Given the description of an element on the screen output the (x, y) to click on. 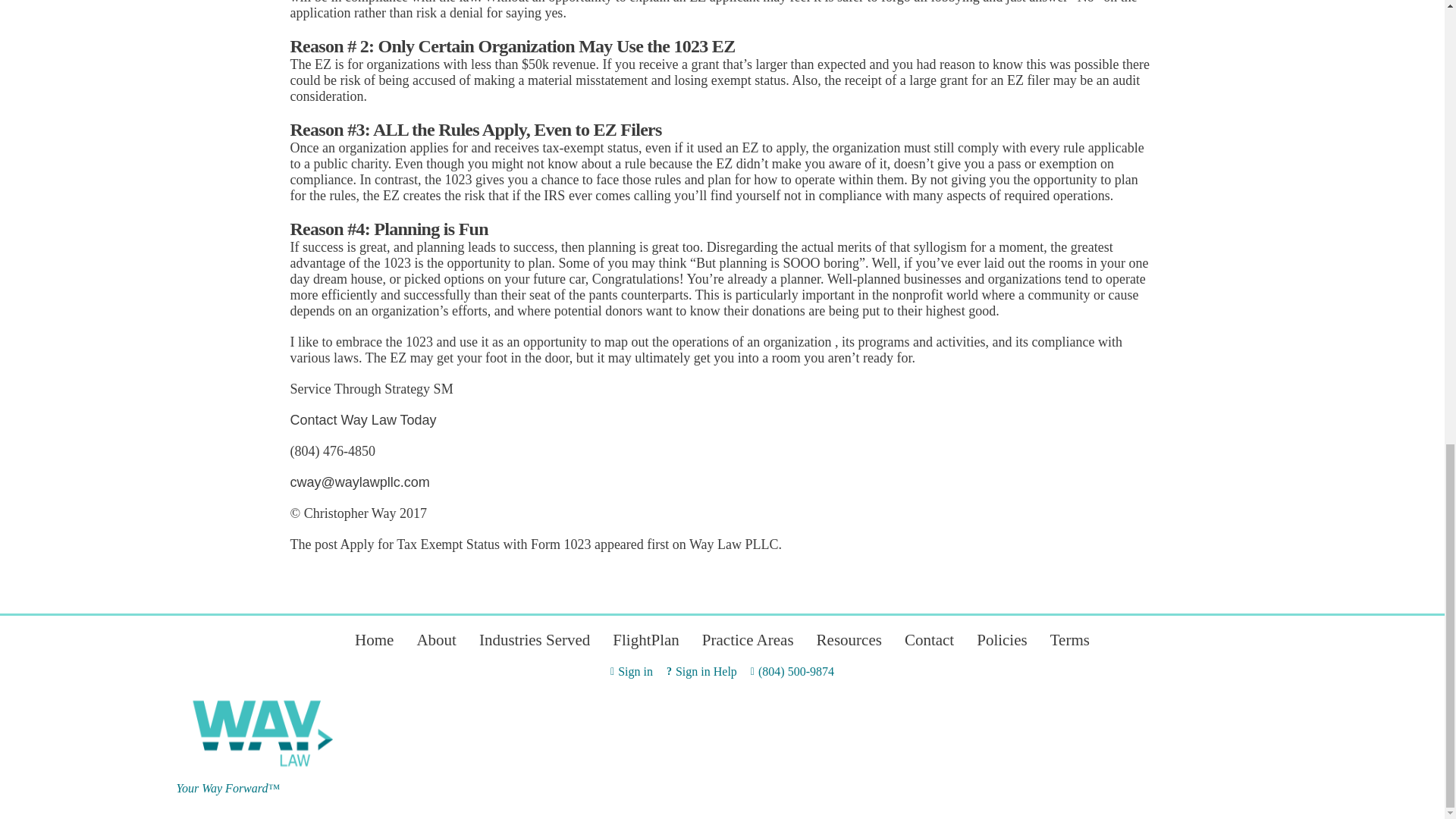
FlightPlan (645, 639)
Industries Served (534, 639)
Contact Way Law Today (362, 419)
About (436, 639)
Home (374, 639)
